Given the description of an element on the screen output the (x, y) to click on. 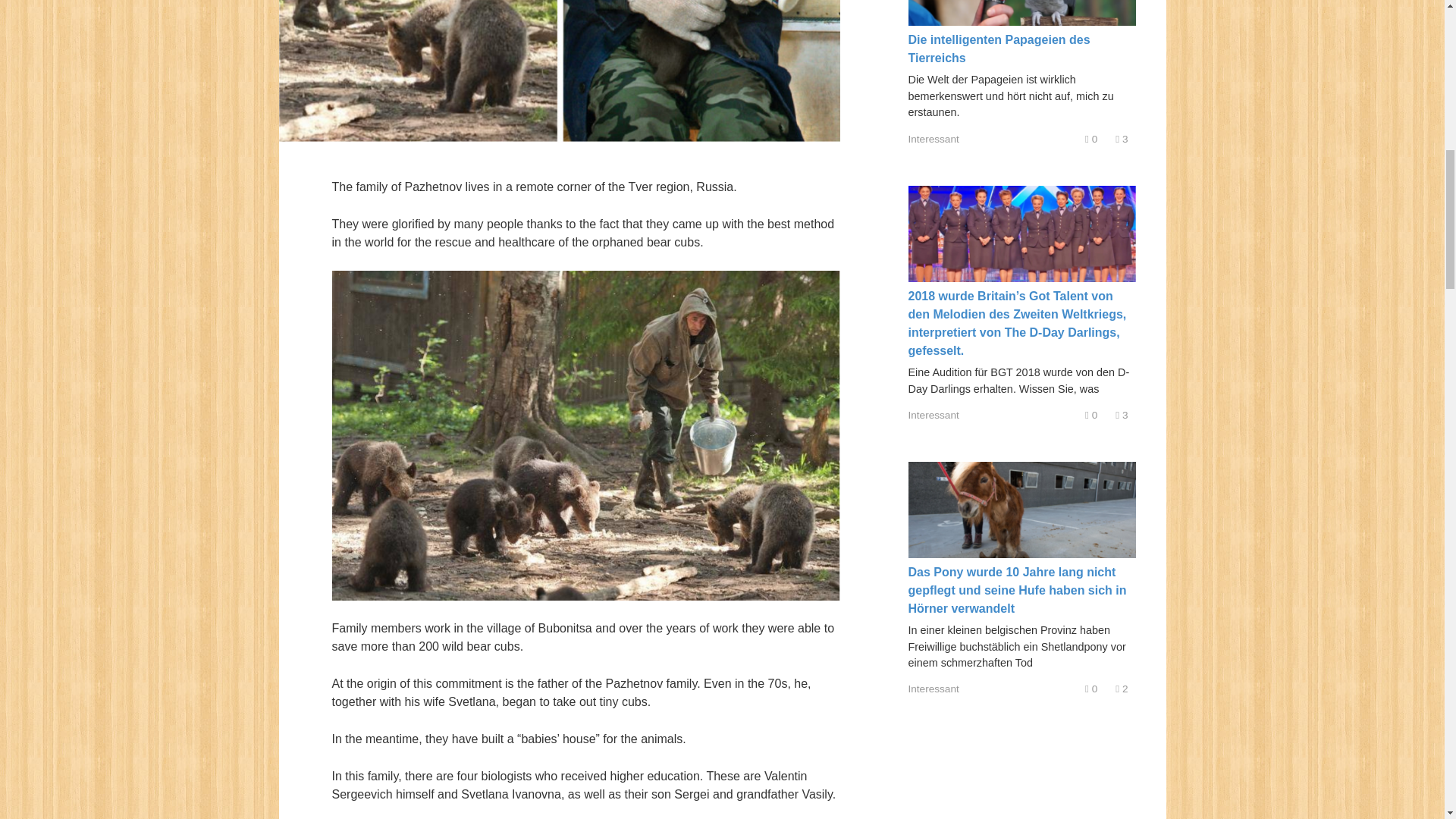
Die intelligenten Papageien des Tierreichs (999, 48)
Interessant (933, 138)
Interessant (933, 414)
Interessant (933, 688)
